Given the description of an element on the screen output the (x, y) to click on. 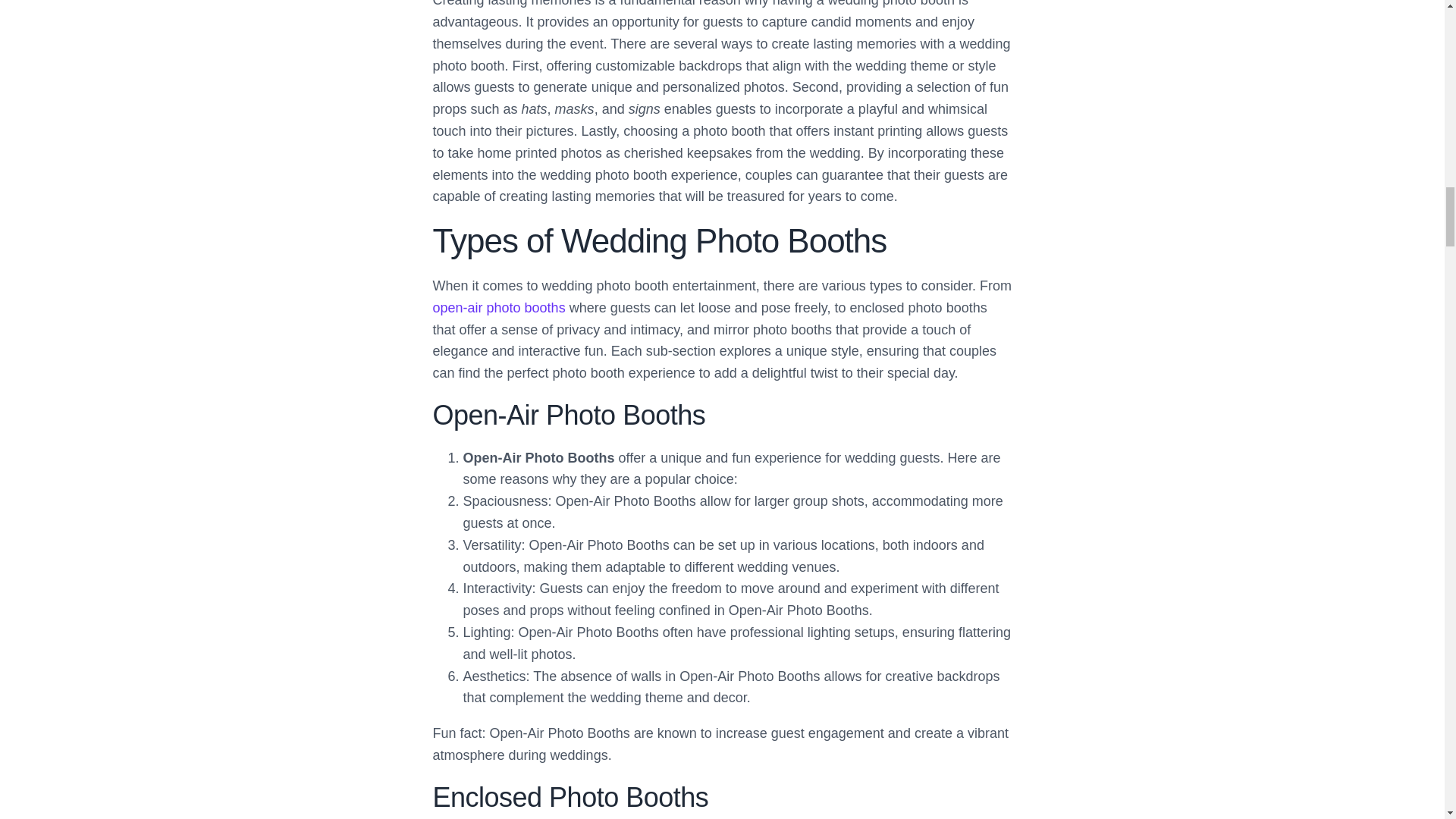
open-air photo booths (498, 307)
open-air photo booths (498, 307)
